Given the description of an element on the screen output the (x, y) to click on. 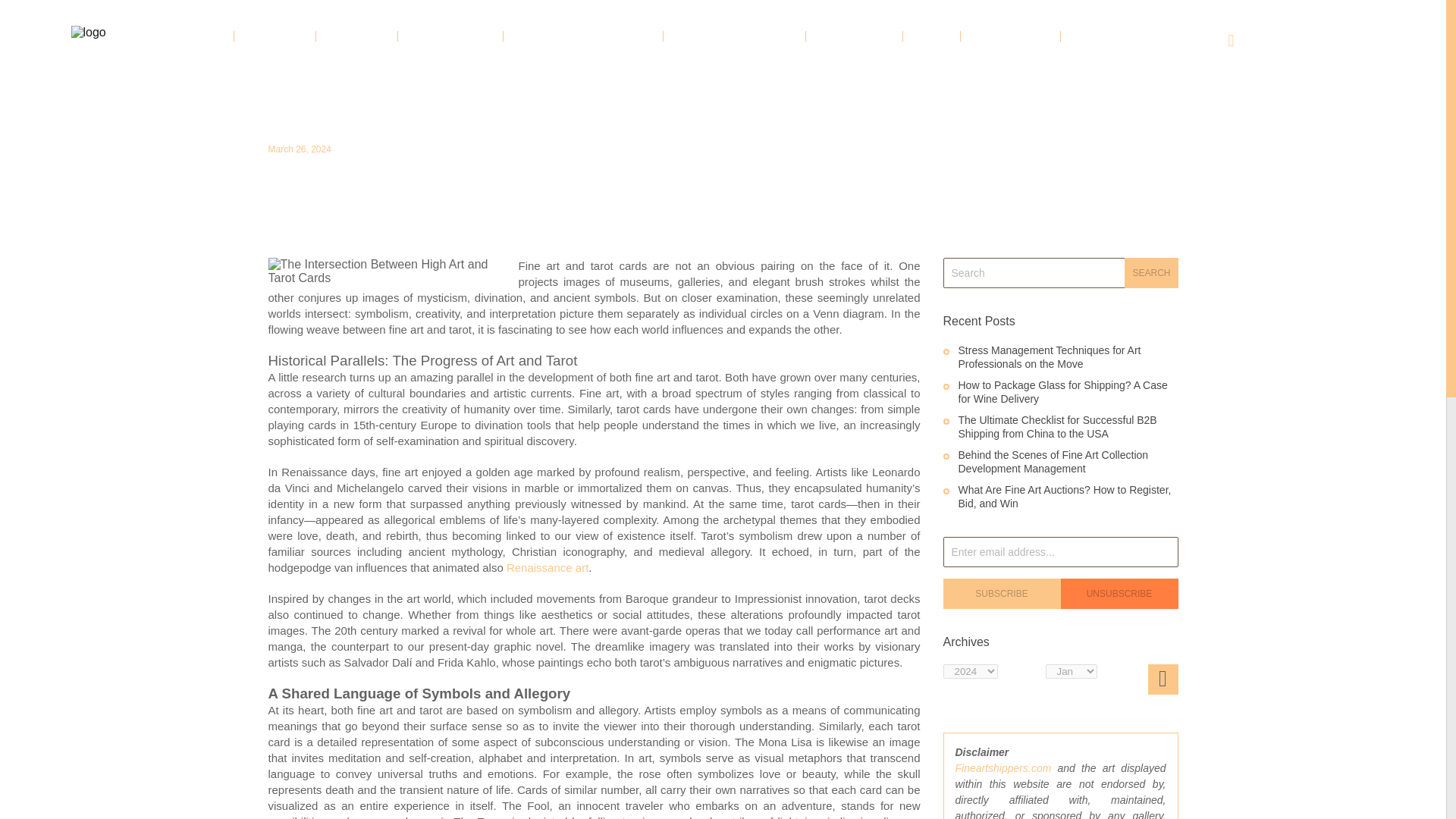
What Are Fine Art Auctions? How to Register, Bid, and Win (1065, 496)
Search (1150, 272)
FREE QUOTE (853, 36)
Subscribe (1002, 593)
How to Package Glass for Shipping? A Case for Wine Delivery (1062, 391)
DESTINATIONS (450, 36)
Subscribe (1002, 593)
Enter email address... (1060, 552)
HOME (203, 36)
CONTACT US (1108, 36)
ABOUT US (274, 36)
Unsubscribe (1118, 593)
ART SHUTTLE (1010, 36)
